Given the description of an element on the screen output the (x, y) to click on. 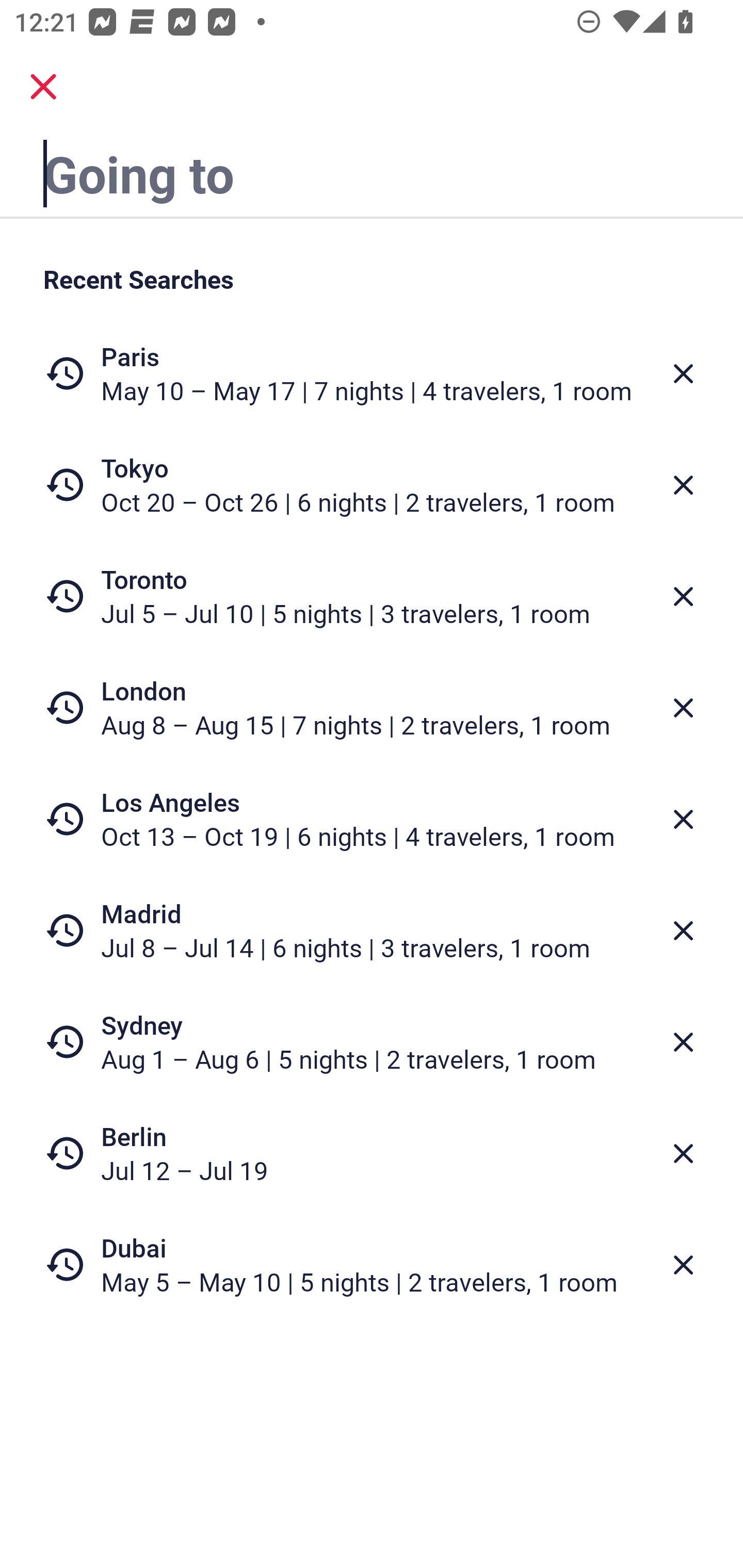
close. (43, 86)
Delete from recent searches (683, 373)
Delete from recent searches (683, 485)
Delete from recent searches (683, 596)
Delete from recent searches (683, 707)
Delete from recent searches (683, 819)
Delete from recent searches (683, 930)
Delete from recent searches (683, 1041)
Berlin Jul 12 – Jul 19 (371, 1152)
Delete from recent searches (683, 1153)
Delete from recent searches (683, 1265)
